Given the description of an element on the screen output the (x, y) to click on. 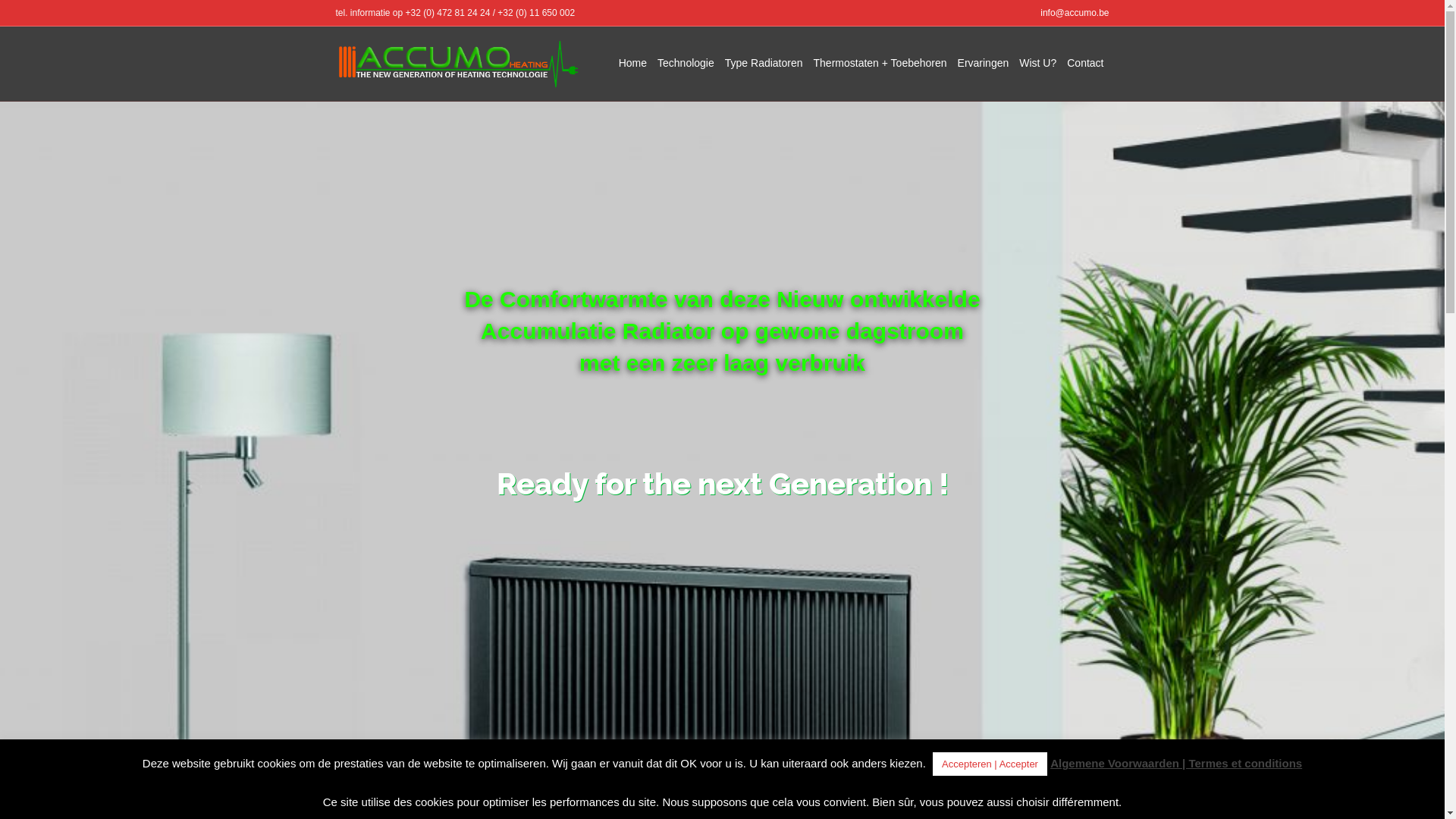
Wist U? Element type: text (1037, 63)
Technologie Element type: text (685, 63)
Type Radiatoren Element type: text (763, 63)
info@accumo.be Element type: text (1074, 12)
Accepteren | Accepter Element type: text (989, 763)
Algemene Voorwaarden | Termes et conditions Element type: text (1176, 763)
Contact Element type: text (1084, 63)
Thermostaten + Toebehoren Element type: text (880, 63)
Ervaringen Element type: text (983, 63)
Home Element type: text (632, 63)
